Given the description of an element on the screen output the (x, y) to click on. 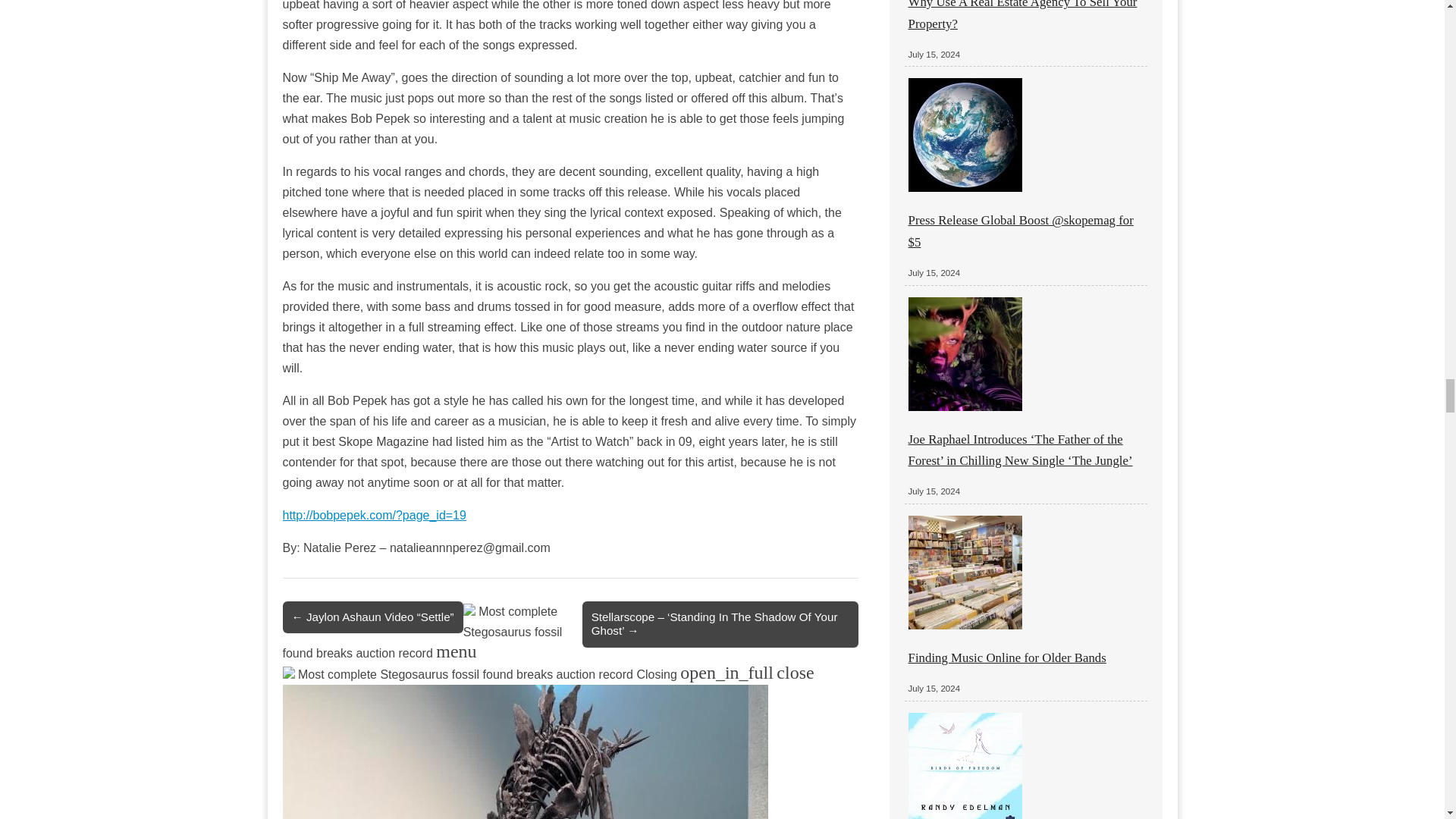
Why Use A Real Estate Agency To Sell Your Property? (1022, 15)
Finding Music Online for Older Bands (1007, 657)
